Given the description of an element on the screen output the (x, y) to click on. 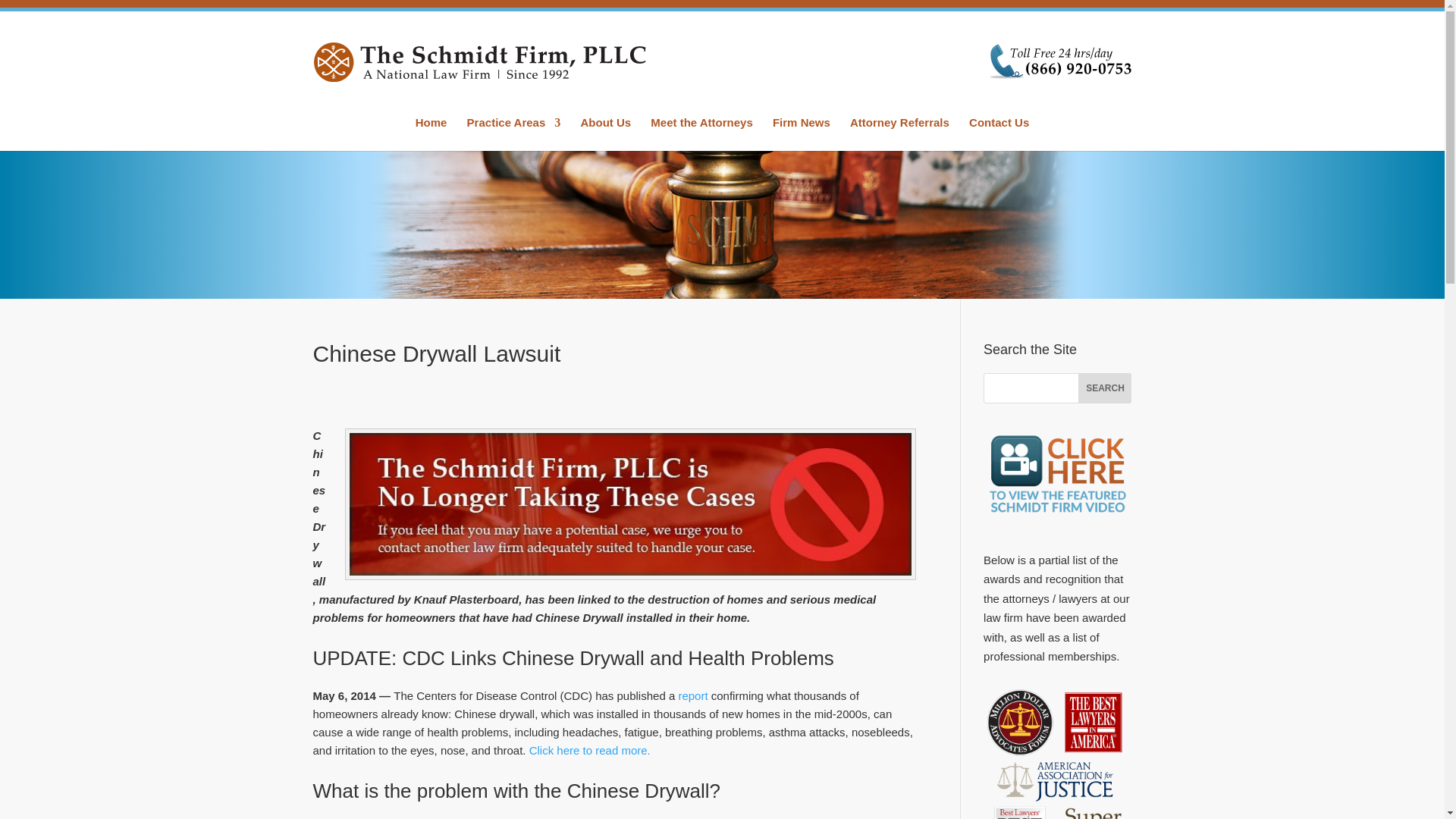
Practice Areas (513, 133)
Contact Us (999, 133)
About Us (604, 133)
CDC Links Chinese Drywall and Health Problems (589, 749)
Firm News (801, 133)
Meet the Attorneys (701, 133)
Attorney Referrals (899, 133)
Home (430, 133)
Search (1104, 388)
